Given the description of an element on the screen output the (x, y) to click on. 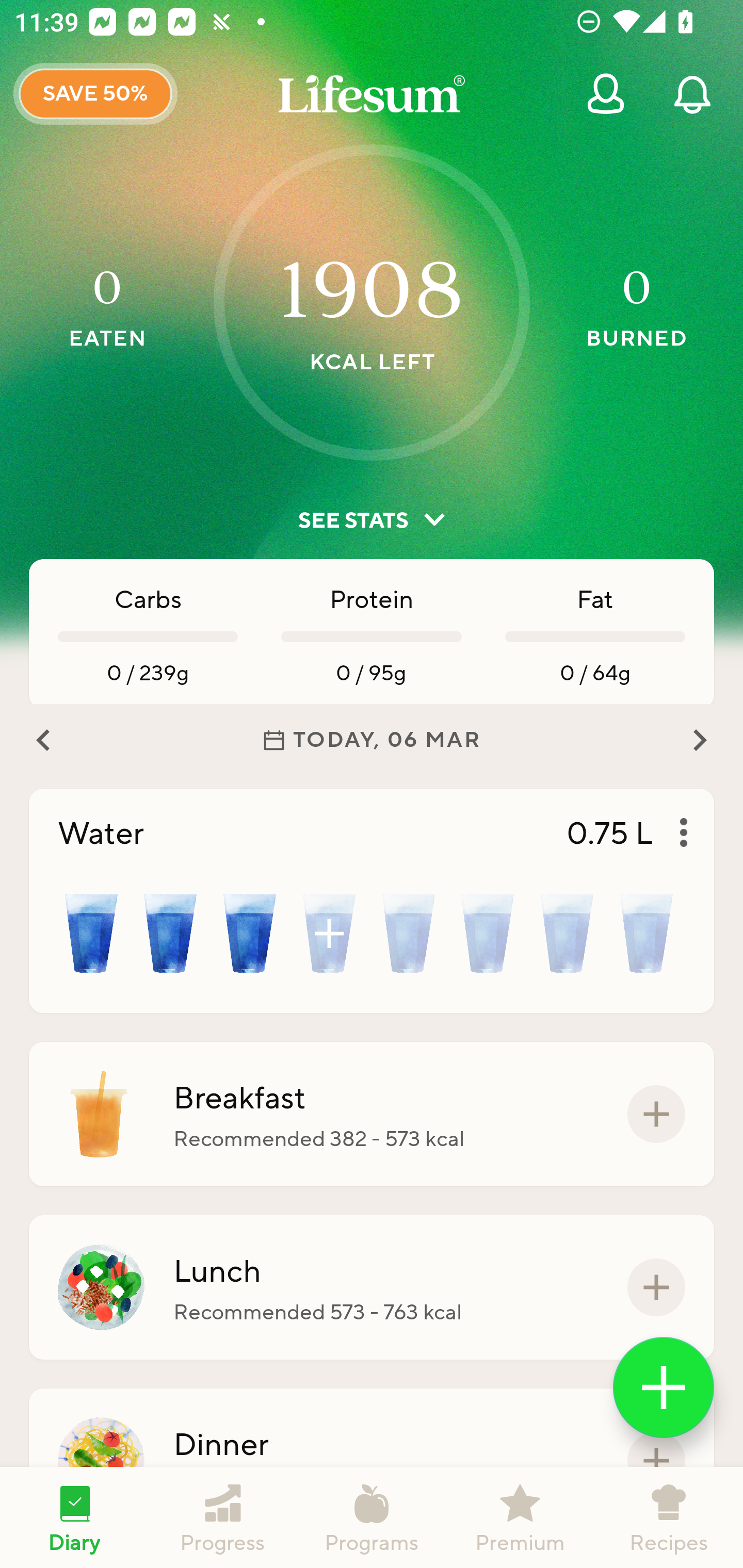
SEE STATS (371, 519)
TODAY, 06 MAR (371, 739)
Breakfast Recommended 382 - 573 kcal (371, 1113)
Lunch Recommended 573 - 763 kcal (371, 1287)
Dinner Recommended 573 - 763 kcal (371, 1461)
Progress (222, 1517)
Programs (371, 1517)
Premium (519, 1517)
Recipes (668, 1517)
